Given the description of an element on the screen output the (x, y) to click on. 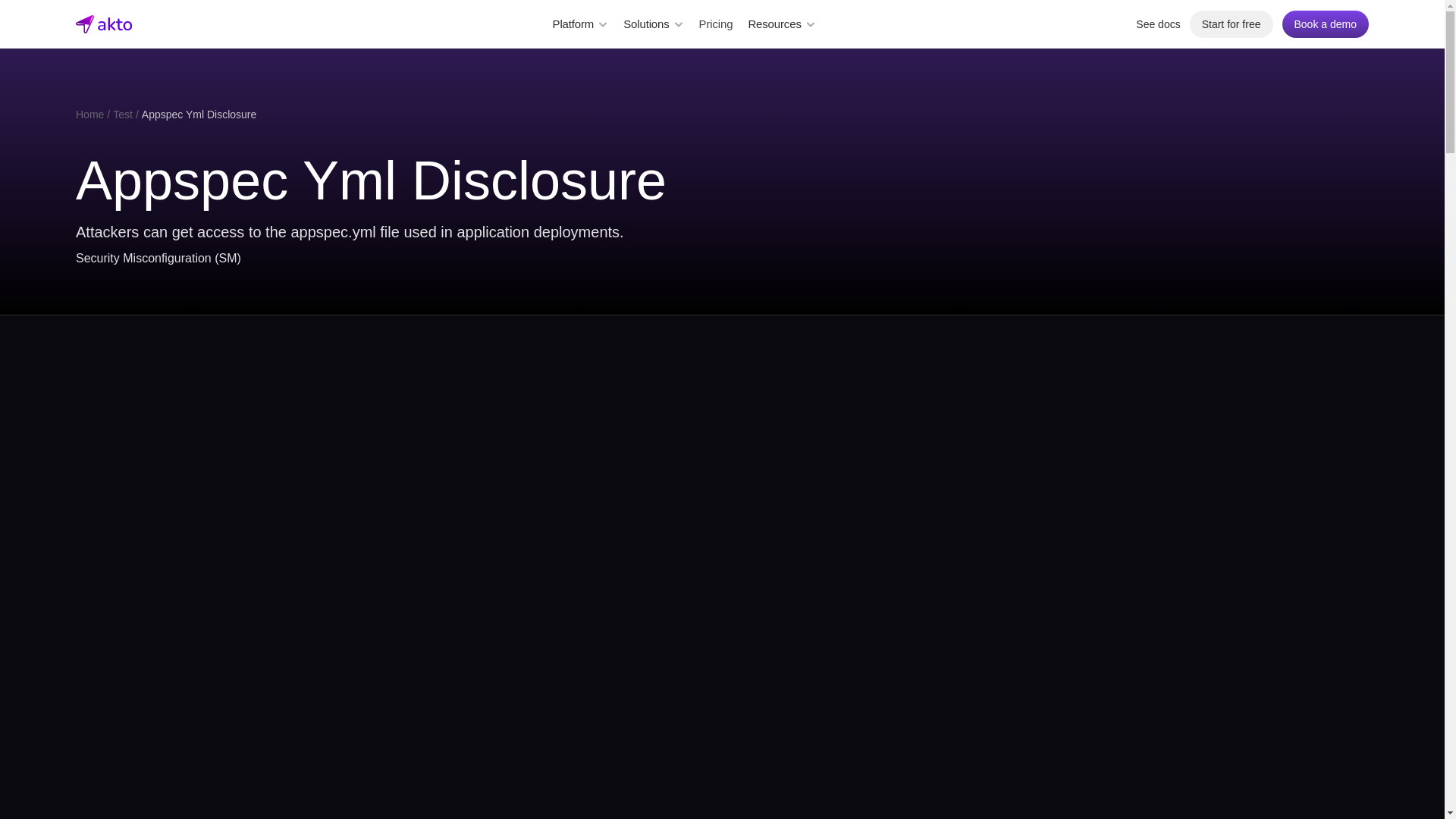
Start for free (1230, 23)
Book a demo (1324, 23)
See docs (1157, 24)
Pricing (715, 24)
